Given the description of an element on the screen output the (x, y) to click on. 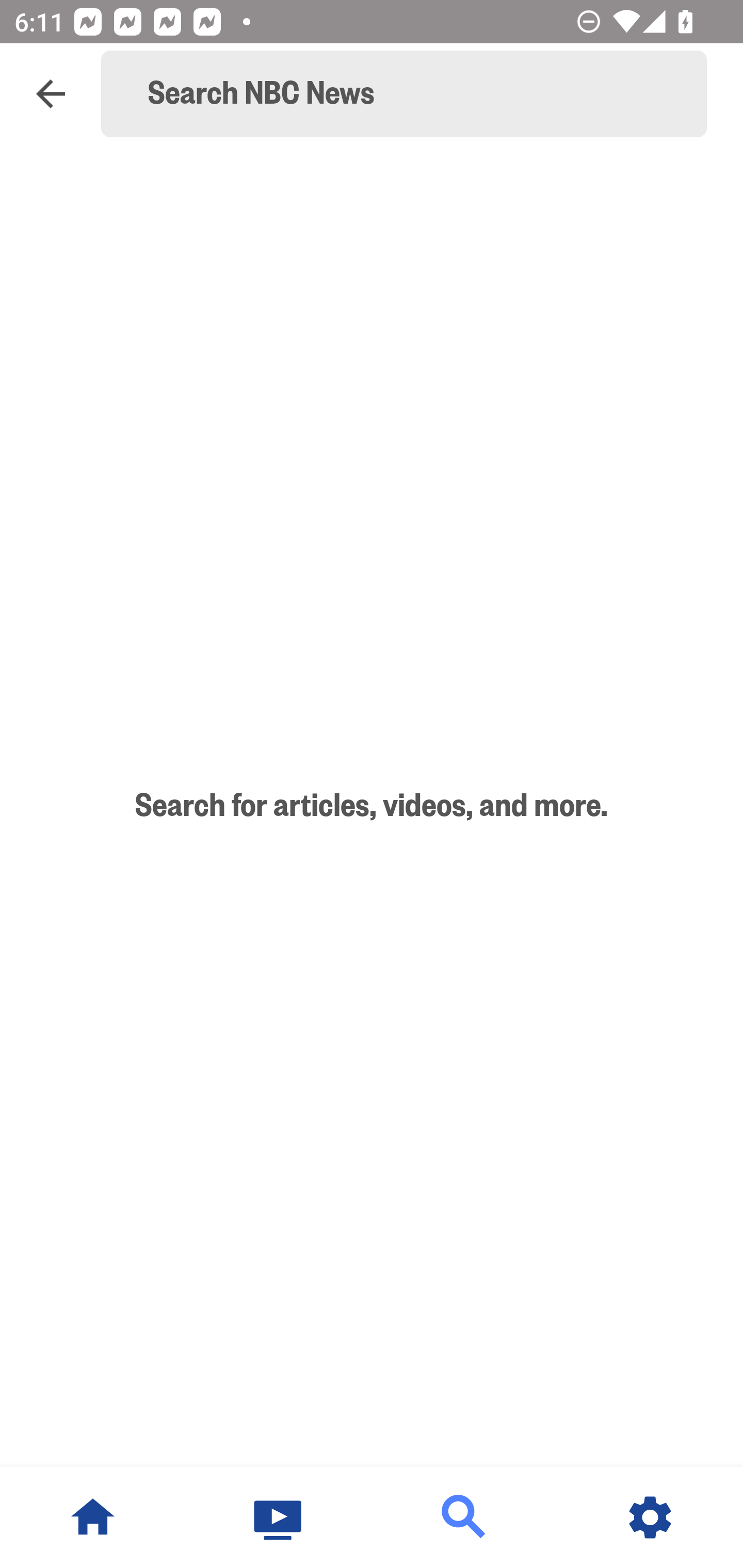
Navigate up (50, 93)
Search NBC News (412, 94)
NBC News Home (92, 1517)
Watch (278, 1517)
Settings (650, 1517)
